Given the description of an element on the screen output the (x, y) to click on. 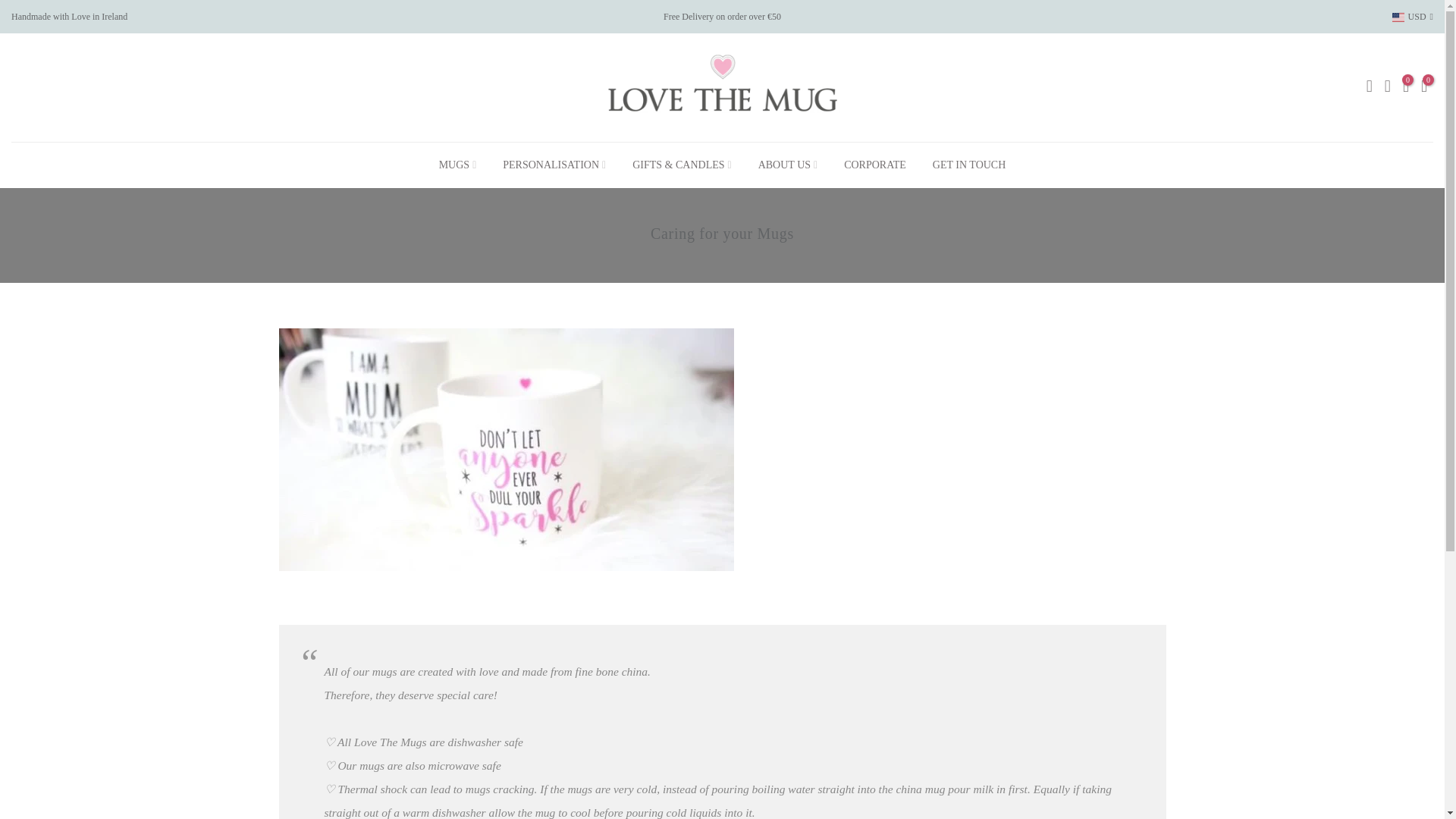
CORPORATE (875, 165)
MUGS (457, 165)
PERSONALISATION (554, 165)
GET IN TOUCH (967, 165)
0 (1423, 87)
ABOUT US (787, 165)
0 (1405, 87)
